Given the description of an element on the screen output the (x, y) to click on. 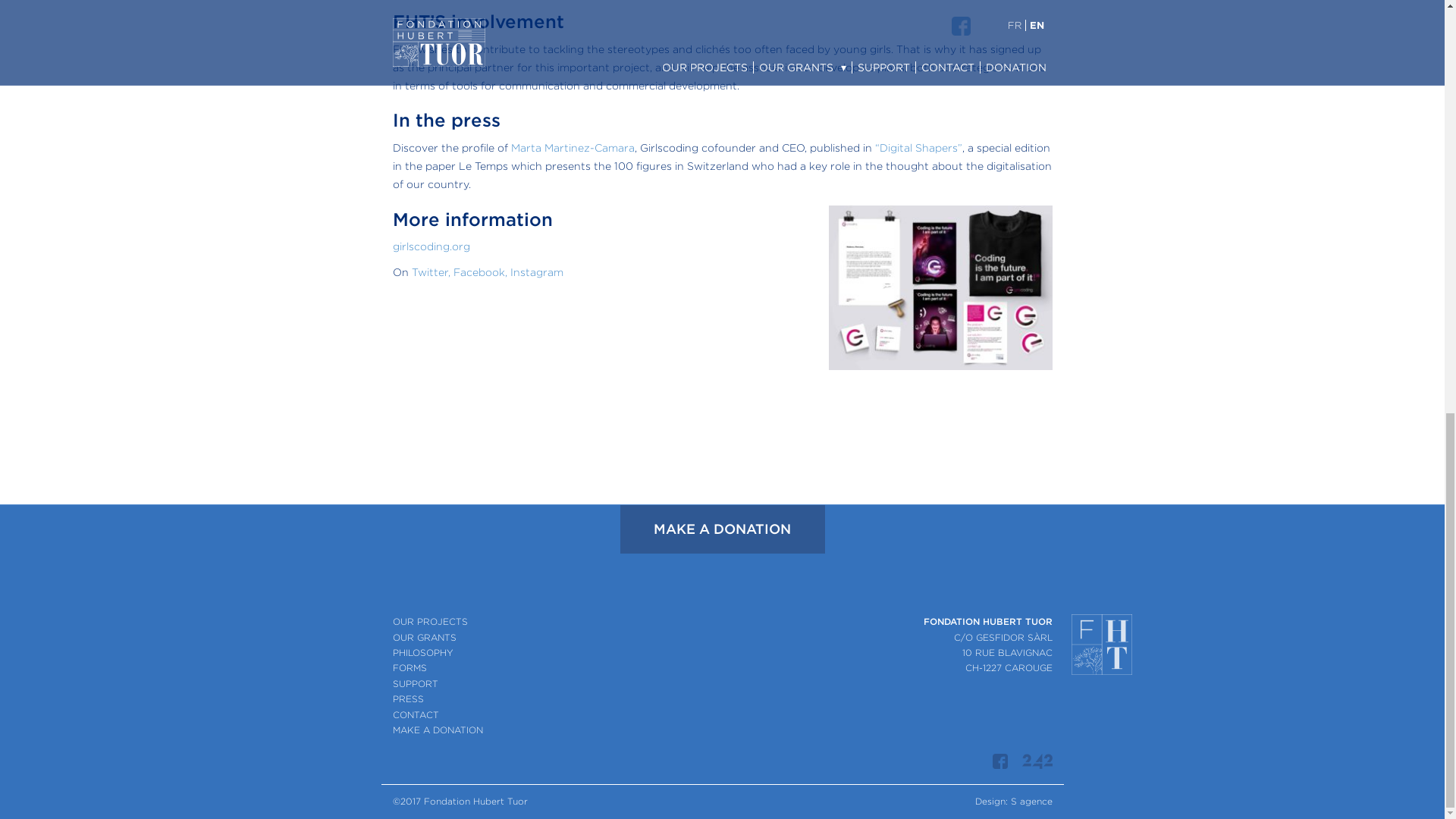
PRESS (408, 698)
S agence (1030, 800)
Instagram (535, 272)
FORMS (409, 667)
CONTACT (416, 714)
Twitter, (429, 272)
Facebook,  (481, 272)
OUR PROJECTS (430, 621)
PHILOSOPHY (422, 652)
MAKE A DONATION (722, 529)
SUPPORT (415, 683)
OUR GRANTS (425, 636)
MAKE A DONATION (438, 729)
girlscoding.org (431, 246)
Marta Martinez-Camara (572, 147)
